Given the description of an element on the screen output the (x, y) to click on. 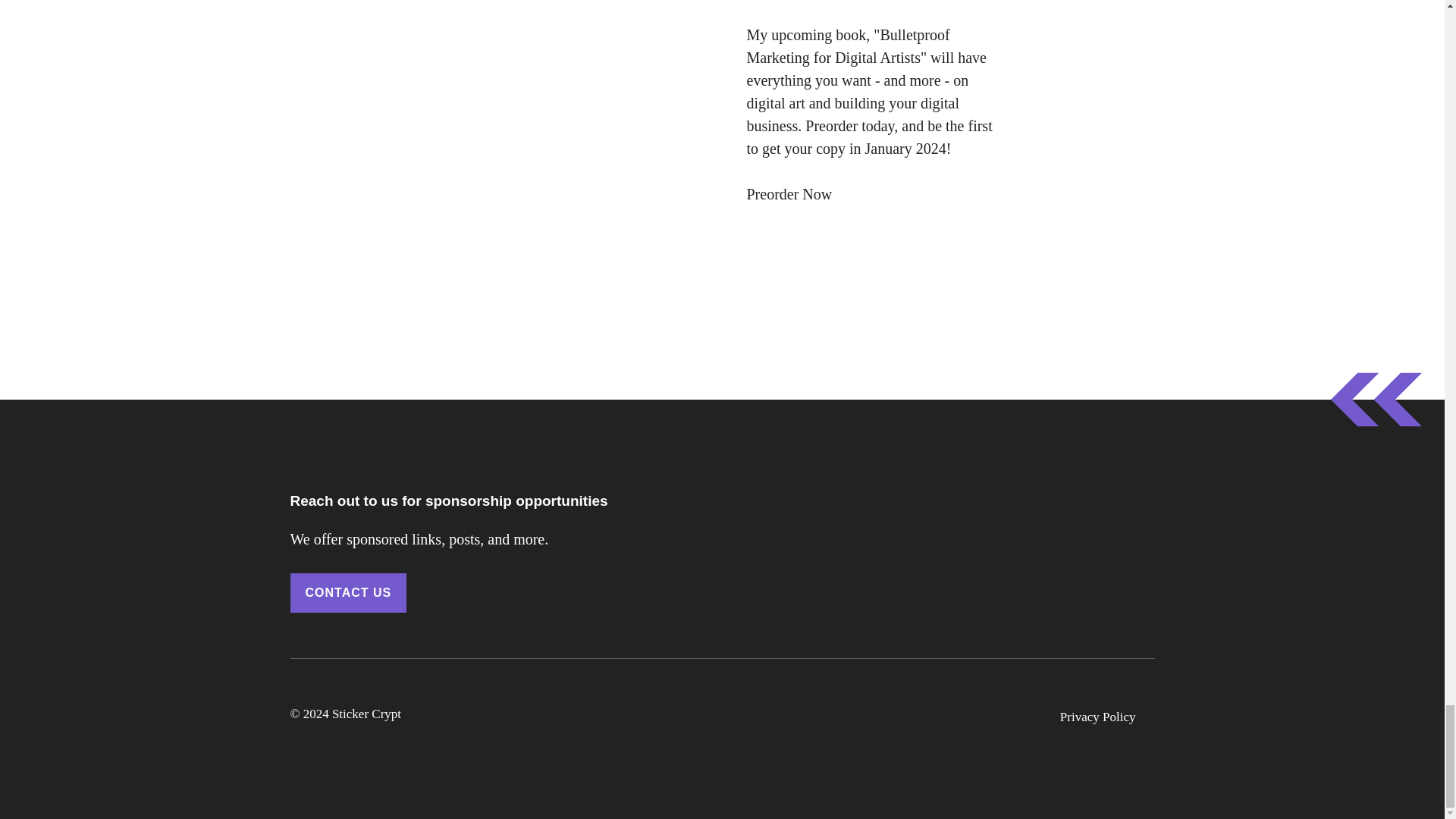
Preorder Now (788, 193)
CONTACT US (347, 592)
Privacy Policy (1097, 717)
Preorder today (849, 125)
